Given the description of an element on the screen output the (x, y) to click on. 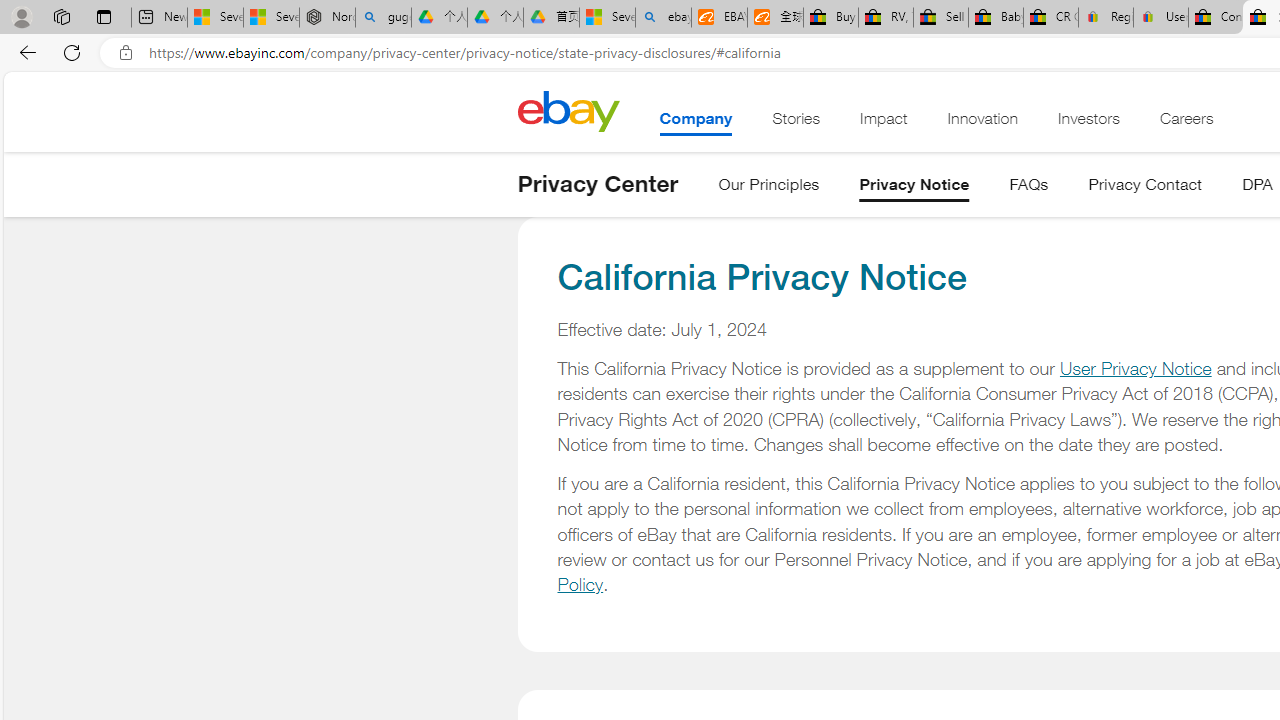
DPA (1257, 188)
Register: Create a personal eBay account (1105, 17)
User Privacy Notice | eBay (1160, 17)
